Given the description of an element on the screen output the (x, y) to click on. 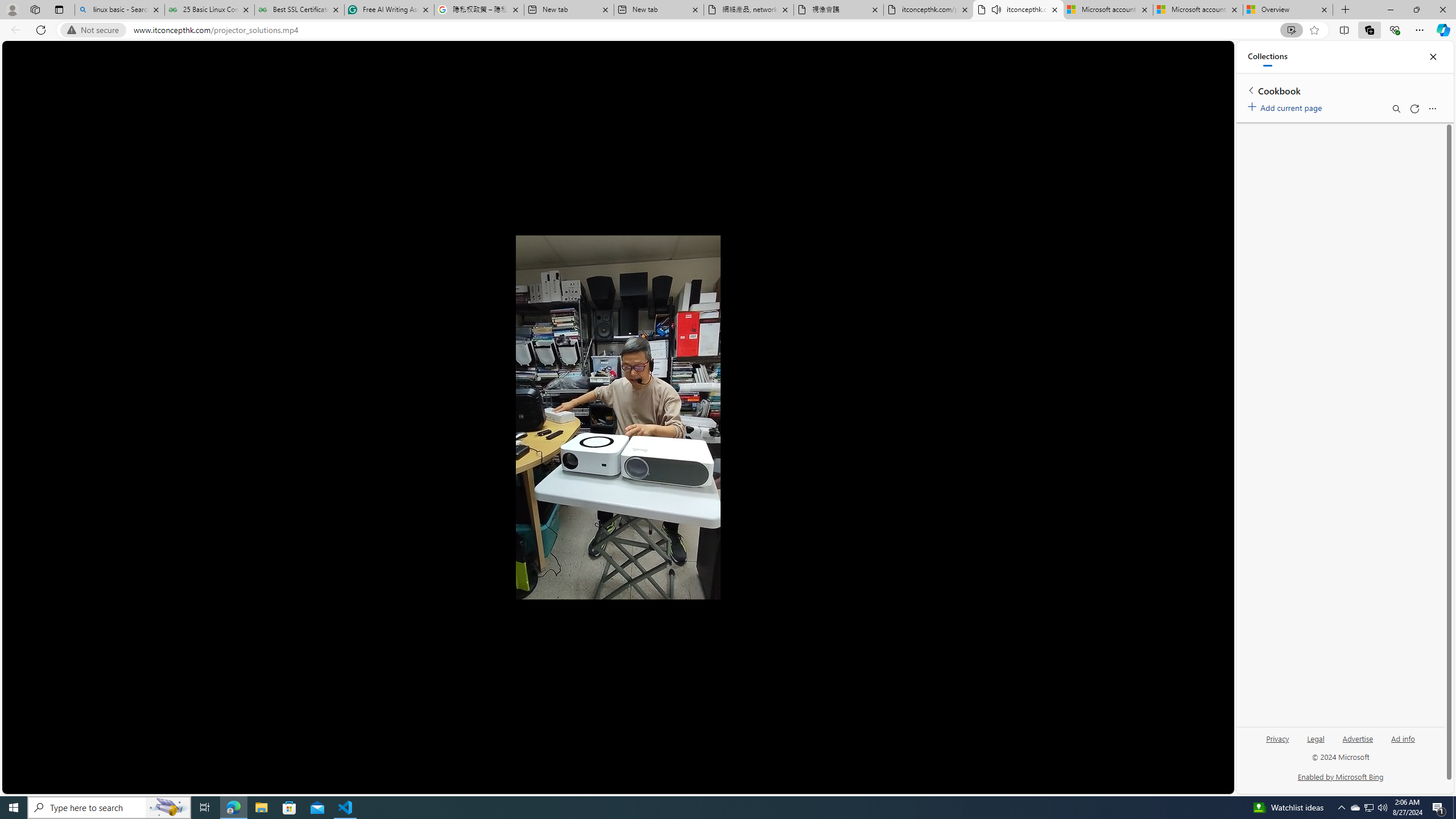
More options menu (1432, 108)
itconcepthk.com/projector_solutions.mp4 (928, 9)
Add current page (1286, 105)
